Given the description of an element on the screen output the (x, y) to click on. 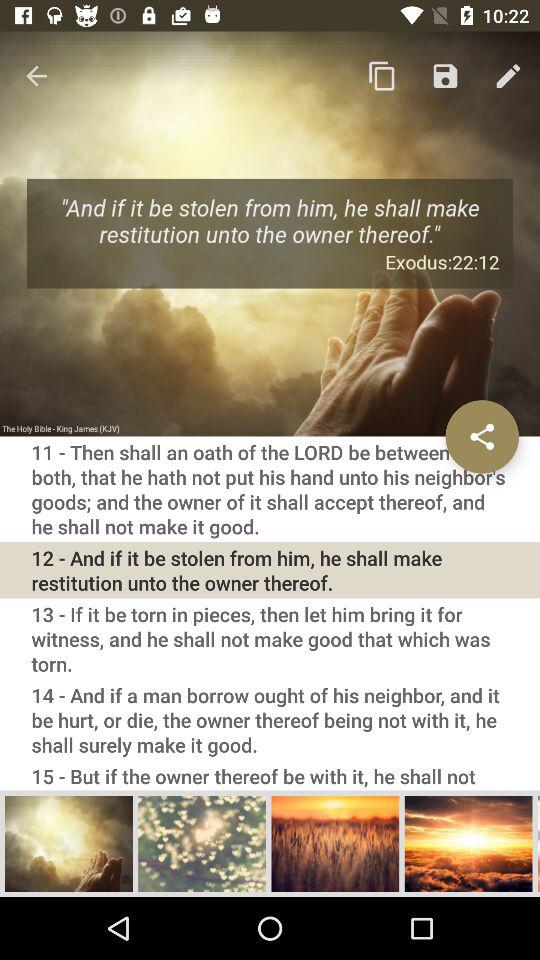
choose item at the bottom left corner (69, 843)
